Given the description of an element on the screen output the (x, y) to click on. 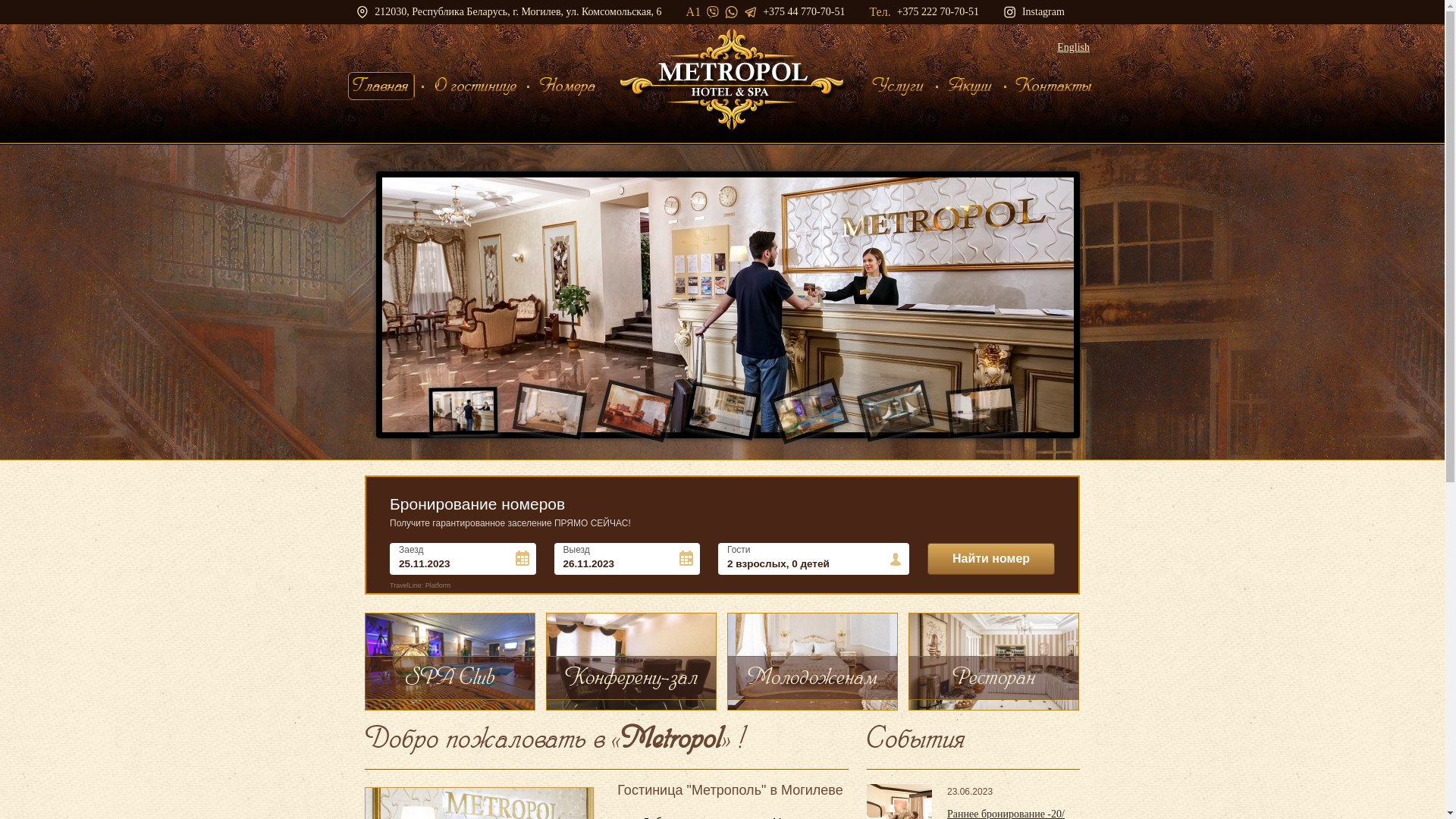
+375 222 70-70-51 Element type: text (938, 12)
+375 44 770-70-51 Element type: text (803, 12)
SPA Club Element type: text (448, 660)
Instagram Element type: text (1033, 12)
English Element type: text (1073, 47)
